Given the description of an element on the screen output the (x, y) to click on. 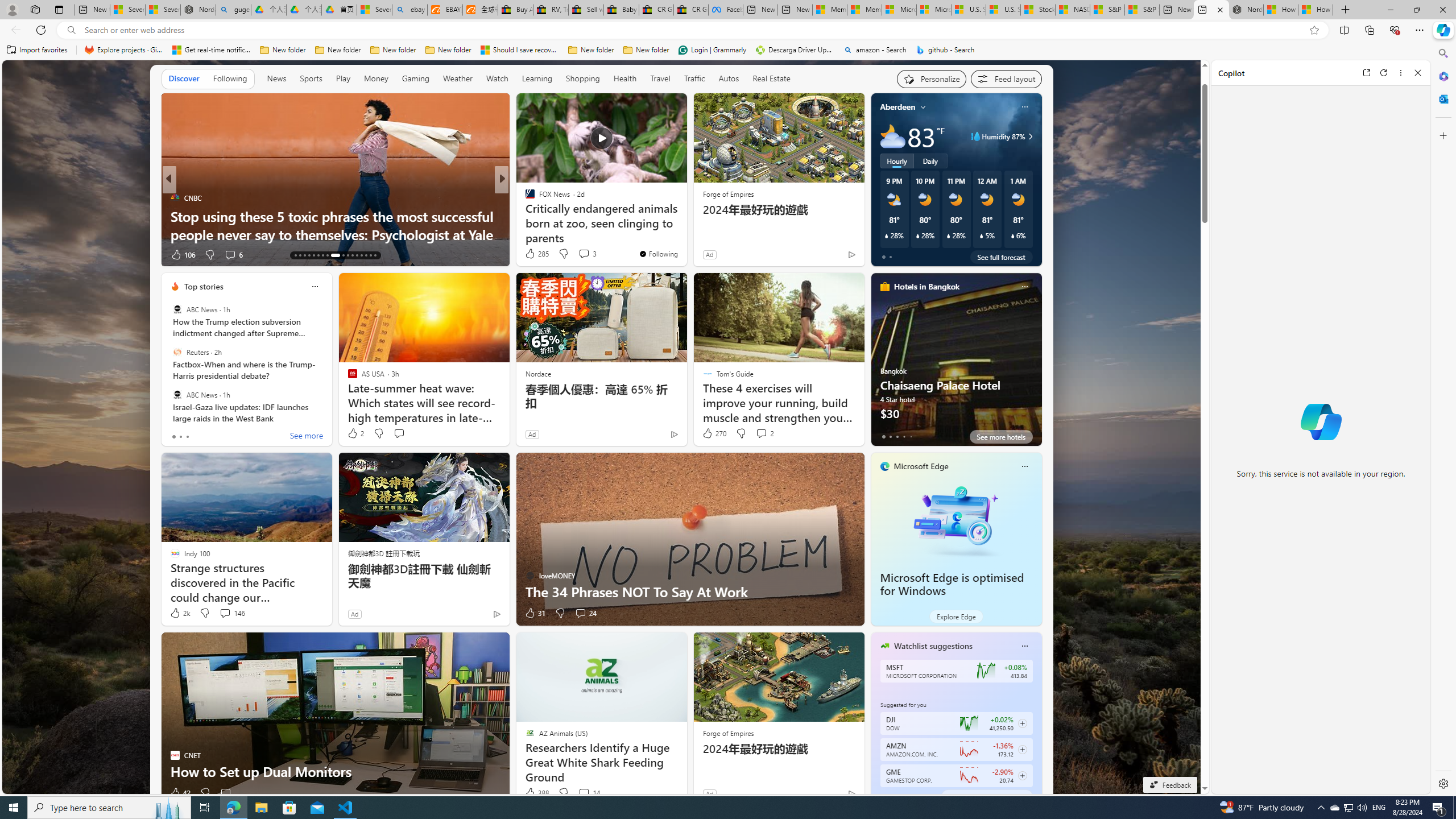
You're following FOX News (657, 253)
Traffic (694, 78)
Mostly cloudy (892, 136)
View comments 2 Comment (761, 432)
